Given the description of an element on the screen output the (x, y) to click on. 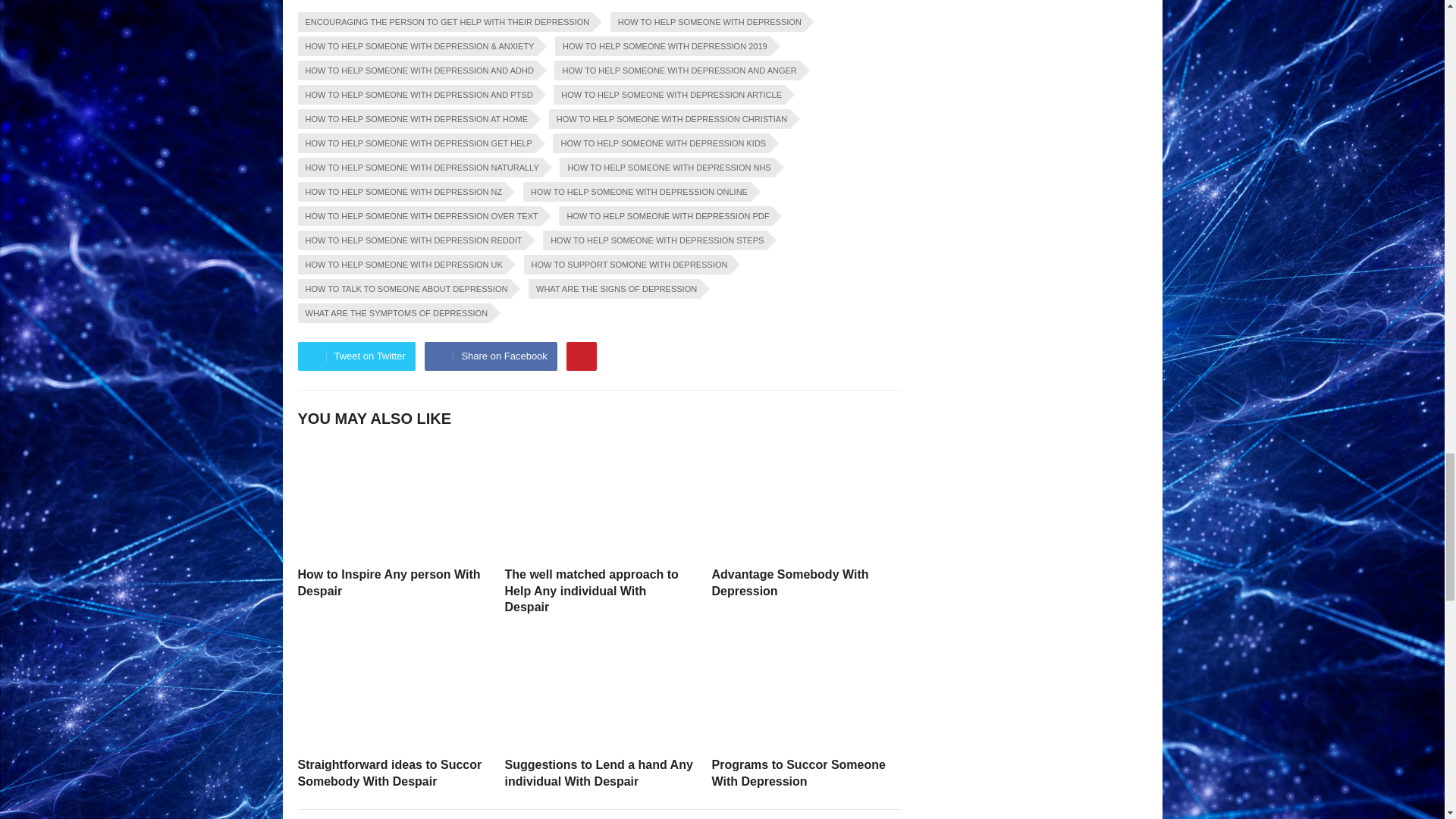
HOW TO HELP SOMEONE WITH DEPRESSION AND PTSD (416, 94)
HOW TO HELP SOMEONE WITH DEPRESSION AND ADHD (416, 70)
HOW TO HELP SOMEONE WITH DEPRESSION AND ANGER (676, 70)
ENCOURAGING THE PERSON TO GET HELP WITH THEIR DEPRESSION (444, 21)
HOW TO HELP SOMEONE WITH DEPRESSION 2019 (662, 46)
HOW TO HELP SOMEONE WITH DEPRESSION (707, 21)
